Given the description of an element on the screen output the (x, y) to click on. 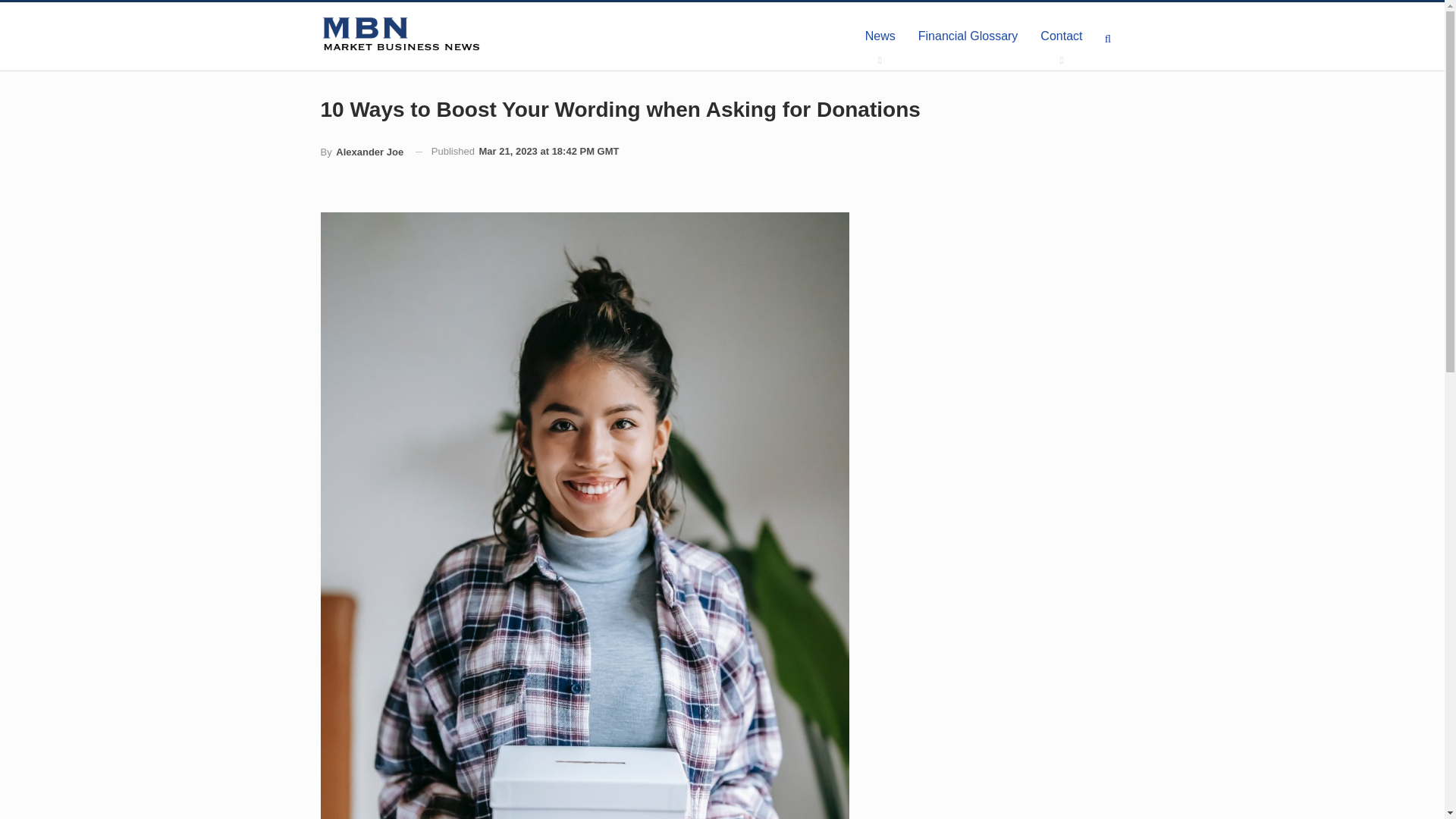
Browse Author Articles (361, 152)
Contact (1061, 36)
By Alexander Joe (361, 152)
Financial Glossary (968, 36)
